Given the description of an element on the screen output the (x, y) to click on. 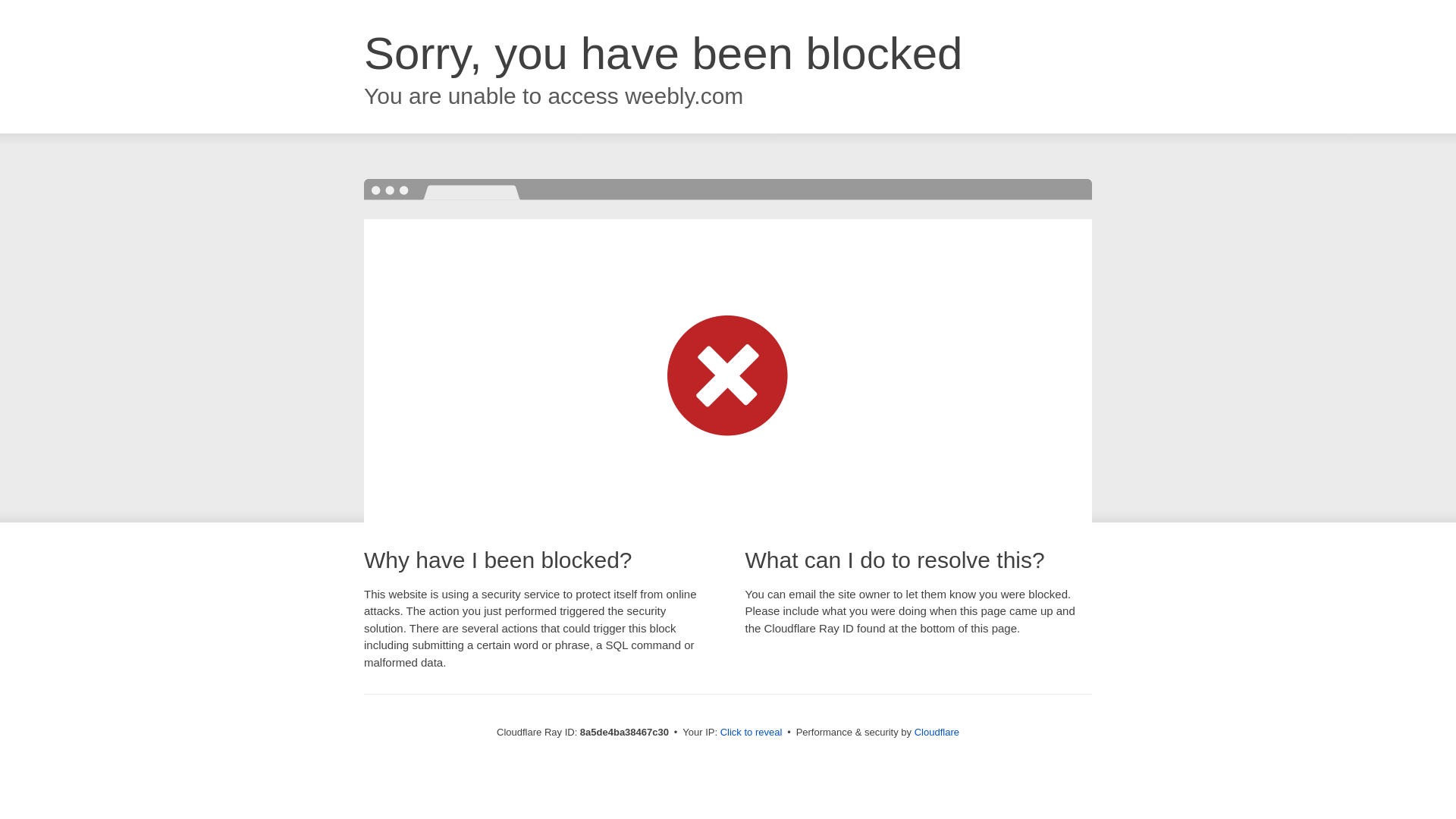
Cloudflare (936, 731)
Click to reveal (751, 732)
